Given the description of an element on the screen output the (x, y) to click on. 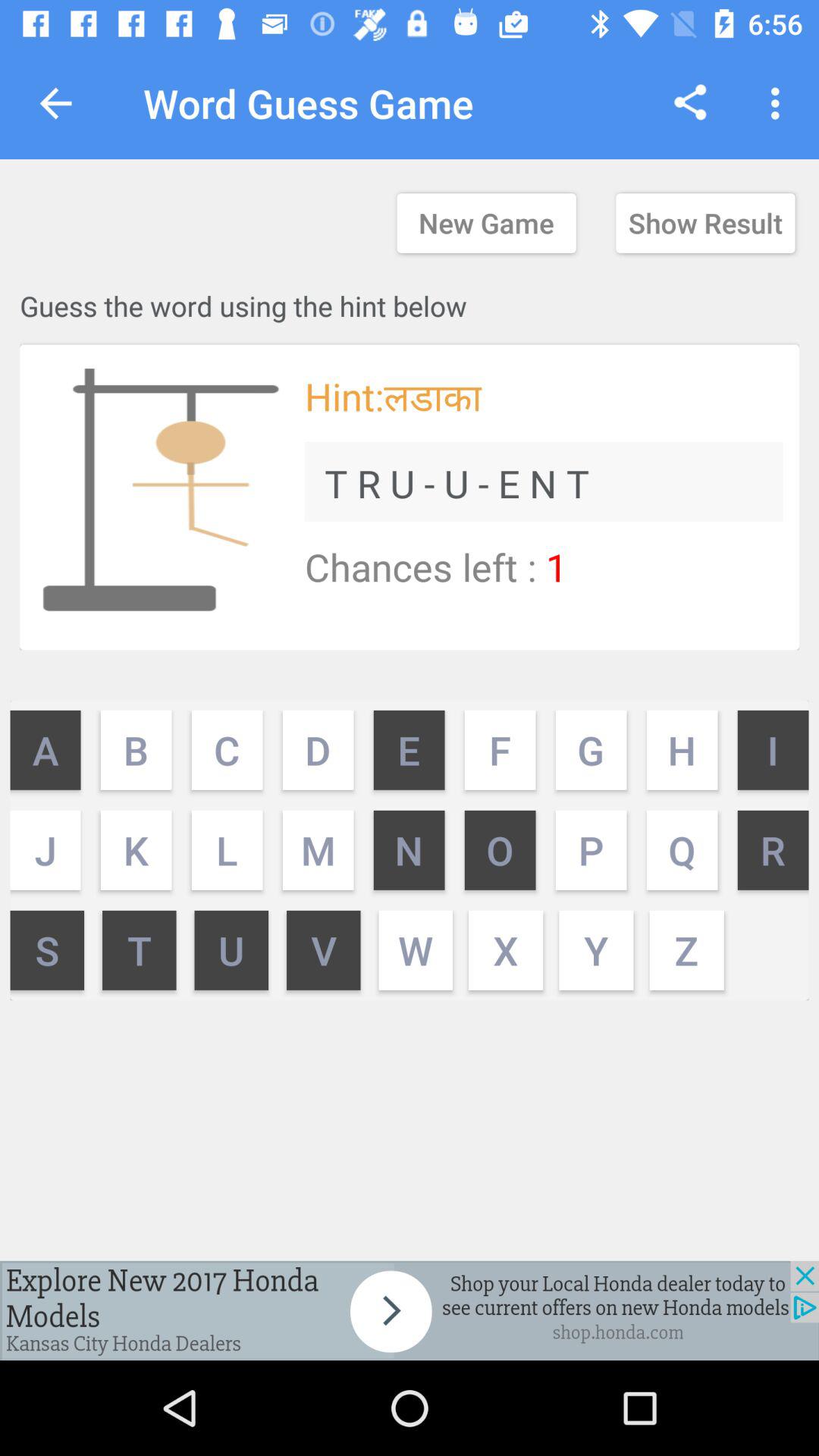
click advertisement (409, 1310)
